Given the description of an element on the screen output the (x, y) to click on. 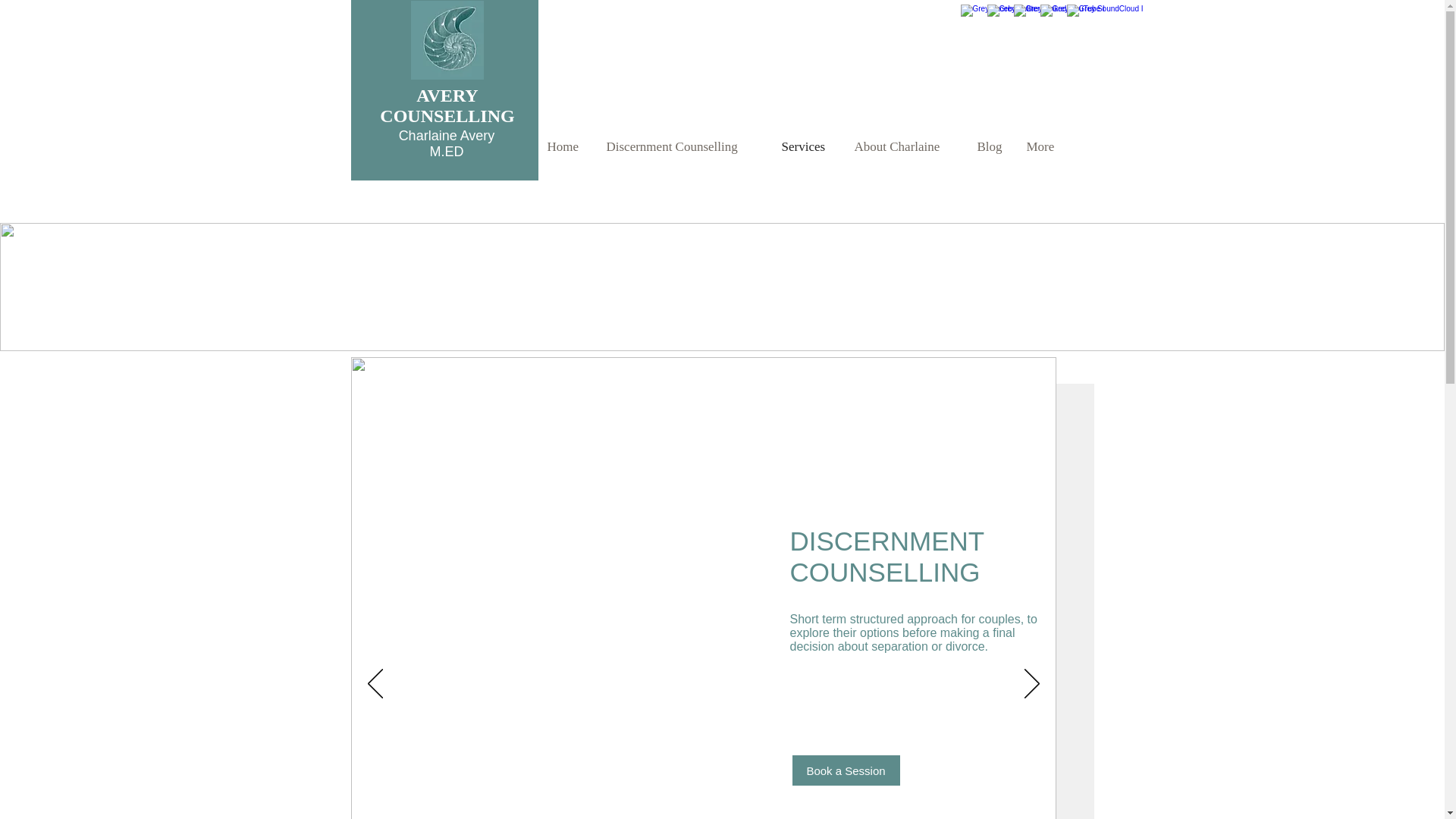
AVERY COUNSELLING (446, 105)
Charlaine Avery M.ED (446, 142)
Book a Session (845, 770)
Discernment Counselling (682, 146)
About Charlaine (904, 146)
Services (806, 146)
Blog (990, 146)
Home (564, 146)
